Given the description of an element on the screen output the (x, y) to click on. 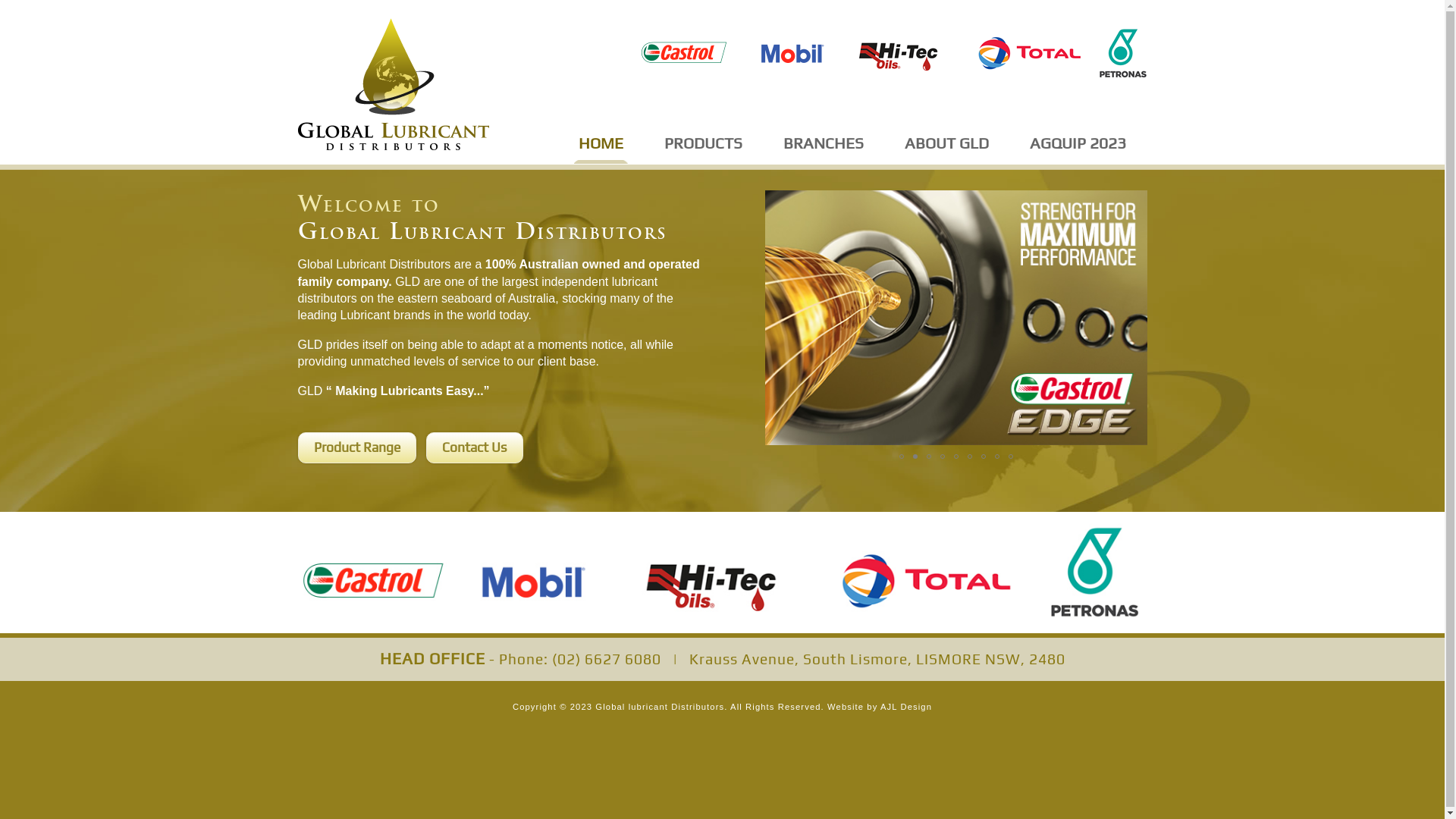
AJL Design Element type: text (905, 706)
AGQUIP 2023 Element type: text (1077, 143)
Contact Us Element type: text (474, 447)
ABOUT GLD Element type: text (946, 143)
BRANCHES Element type: text (823, 143)
Product Range Element type: text (356, 447)
HOME Element type: text (600, 143)
PRODUCTS Element type: text (702, 143)
